Given the description of an element on the screen output the (x, y) to click on. 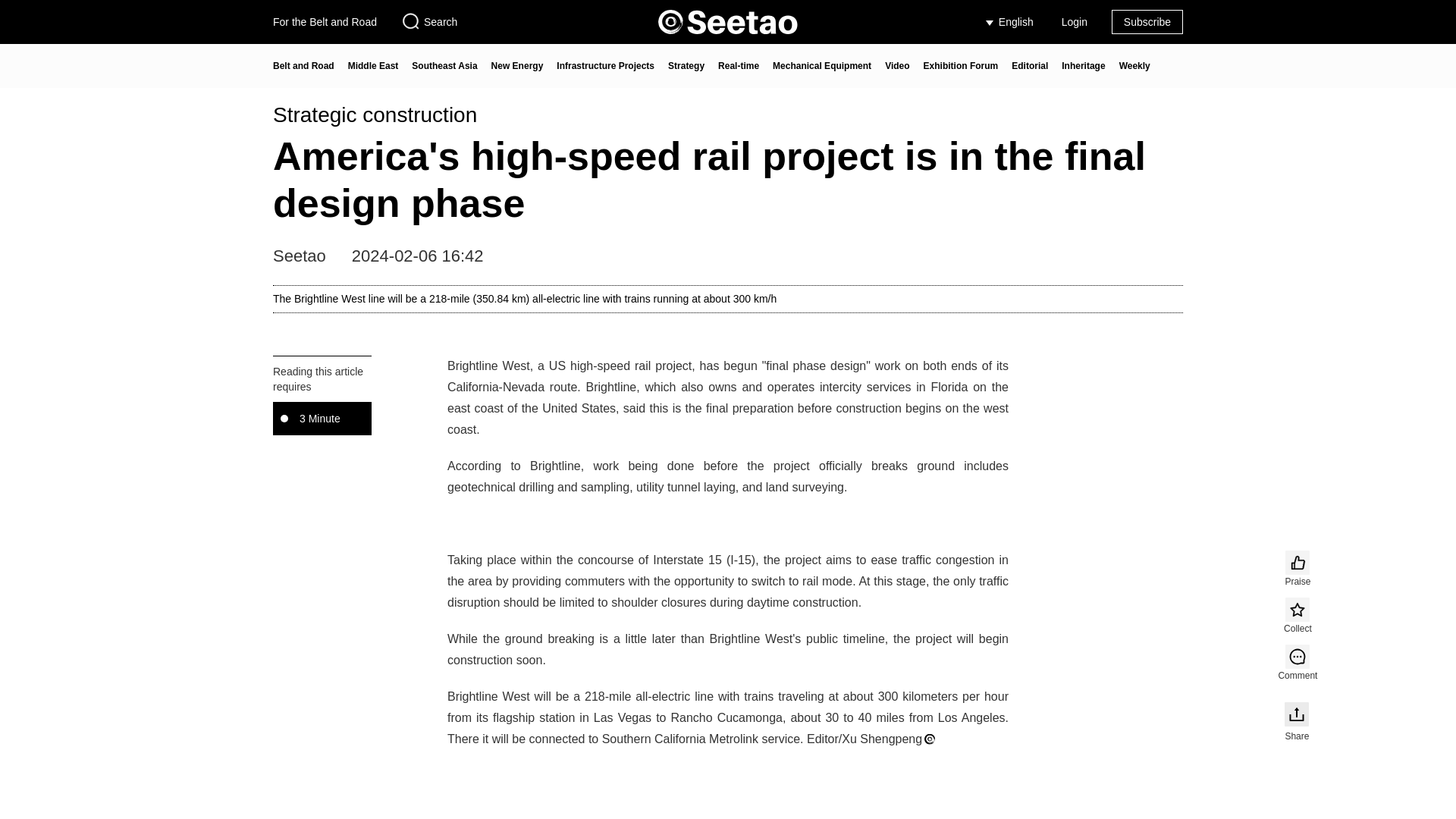
Southeast Asia (444, 66)
Infrastructure Projects (604, 66)
New Energy (517, 66)
Strategy (686, 66)
Middle East (372, 66)
Belt and Road (303, 66)
For the Belt and Road (325, 22)
Real-time (737, 66)
Subscribe (1147, 21)
Search (429, 22)
